Given the description of an element on the screen output the (x, y) to click on. 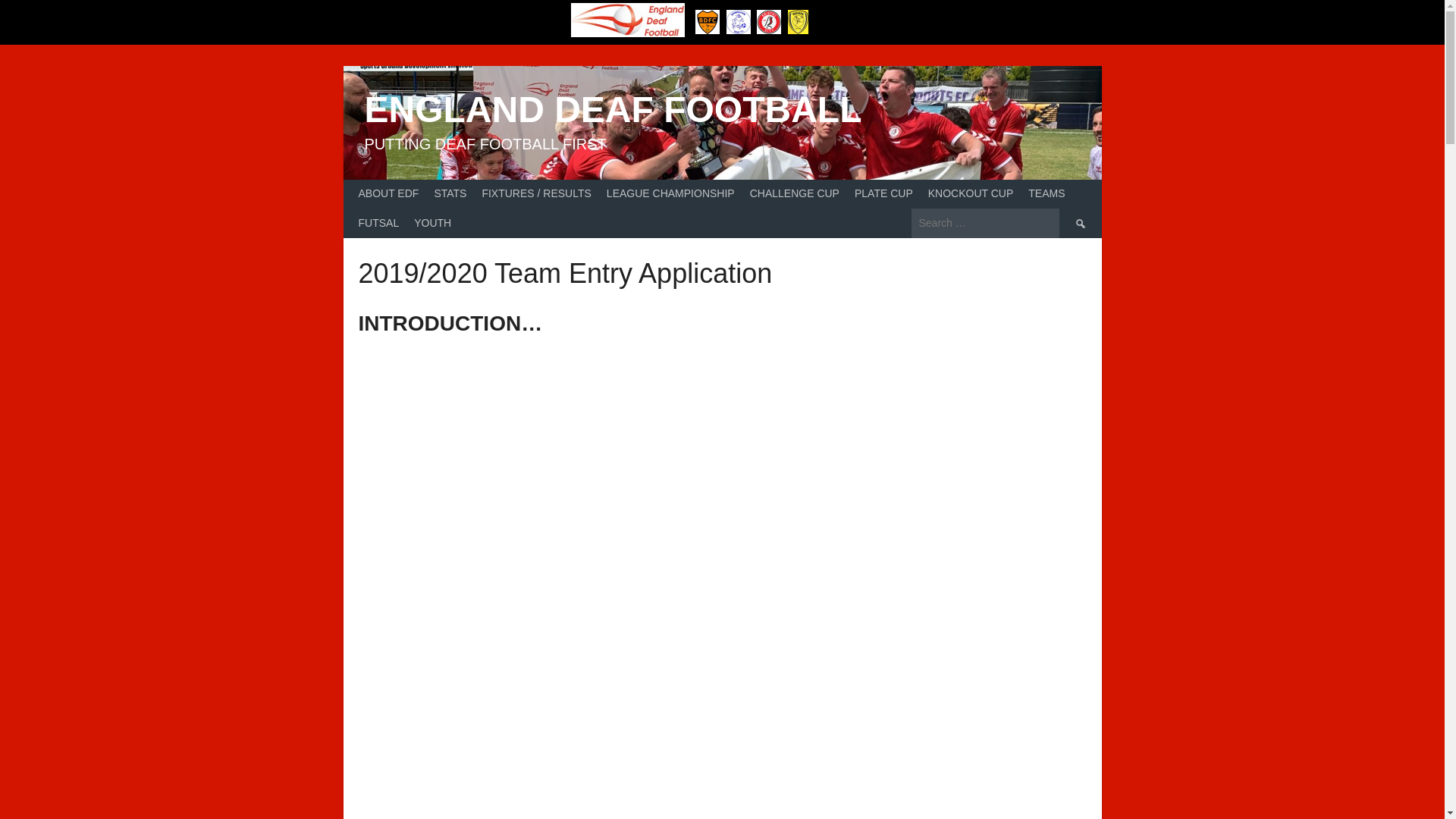
ABOUT EDF (388, 193)
ENGLAND DEAF FOOTBALL (612, 109)
Barnet DFC (707, 21)
EDF (627, 19)
Bristol City DFC (768, 21)
Birmingham DFC (738, 21)
